Given the description of an element on the screen output the (x, y) to click on. 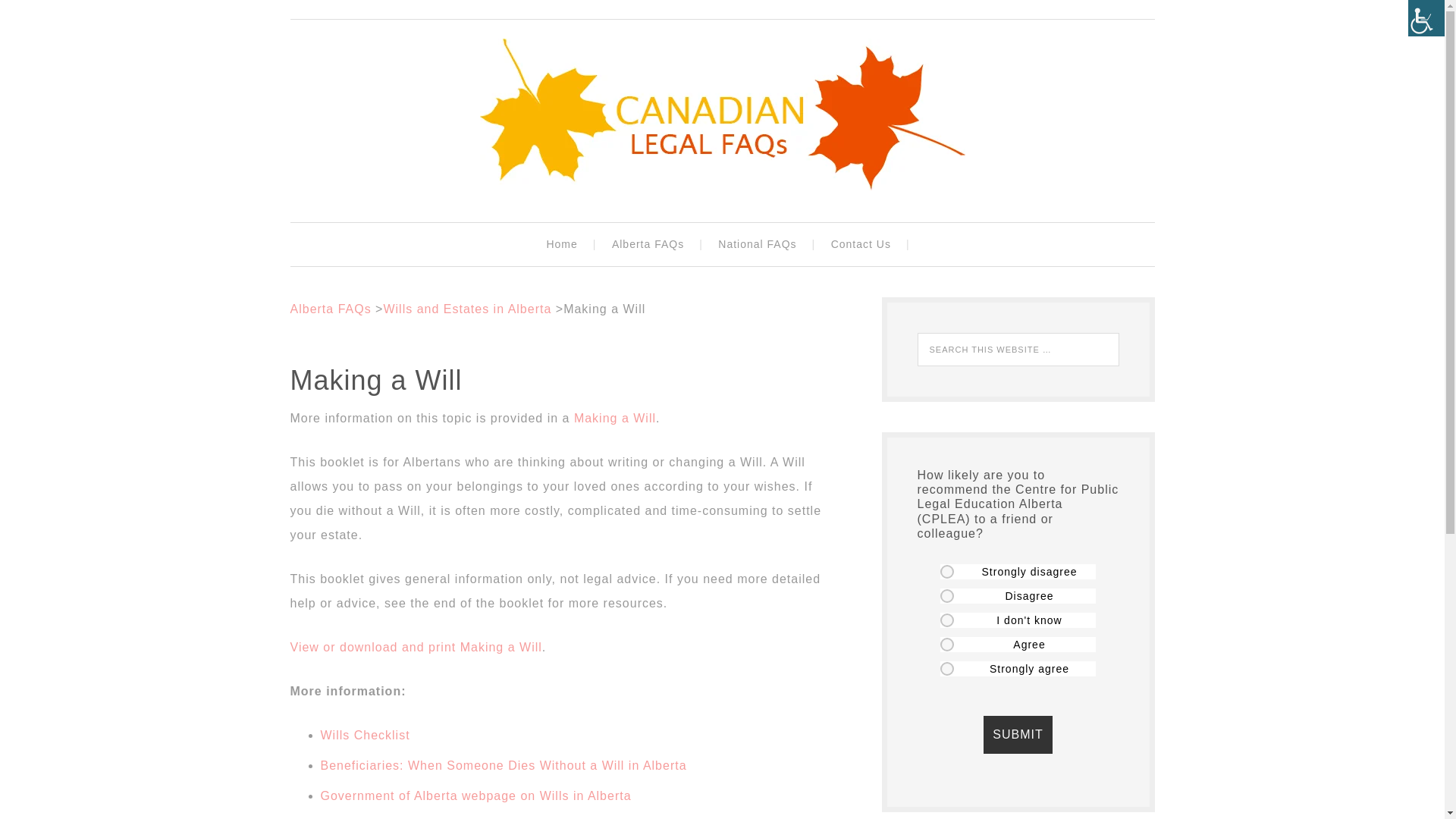
Home (564, 244)
Making a Will (614, 418)
View or download and print Making a Will (415, 646)
Government of Alberta webpage on Wills in Alberta (475, 795)
Wills and Estates in Alberta (466, 308)
Beneficiaries: When Someone Dies Without a Will in Alberta (502, 765)
Wills Checklist (364, 735)
Alberta FAQs (651, 244)
Contact Us (864, 244)
